Given the description of an element on the screen output the (x, y) to click on. 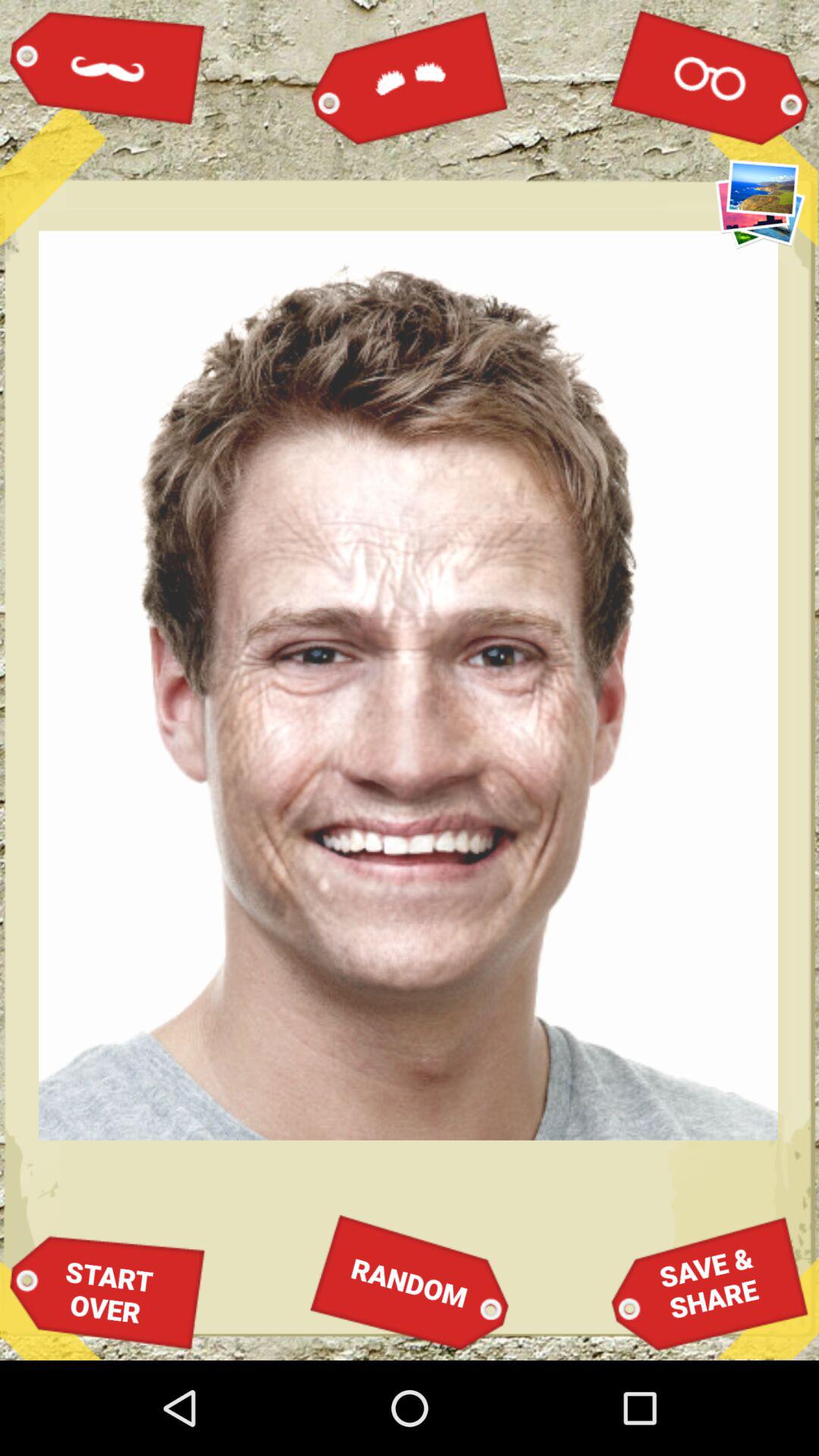
turn on the item at the bottom left corner (107, 1292)
